Given the description of an element on the screen output the (x, y) to click on. 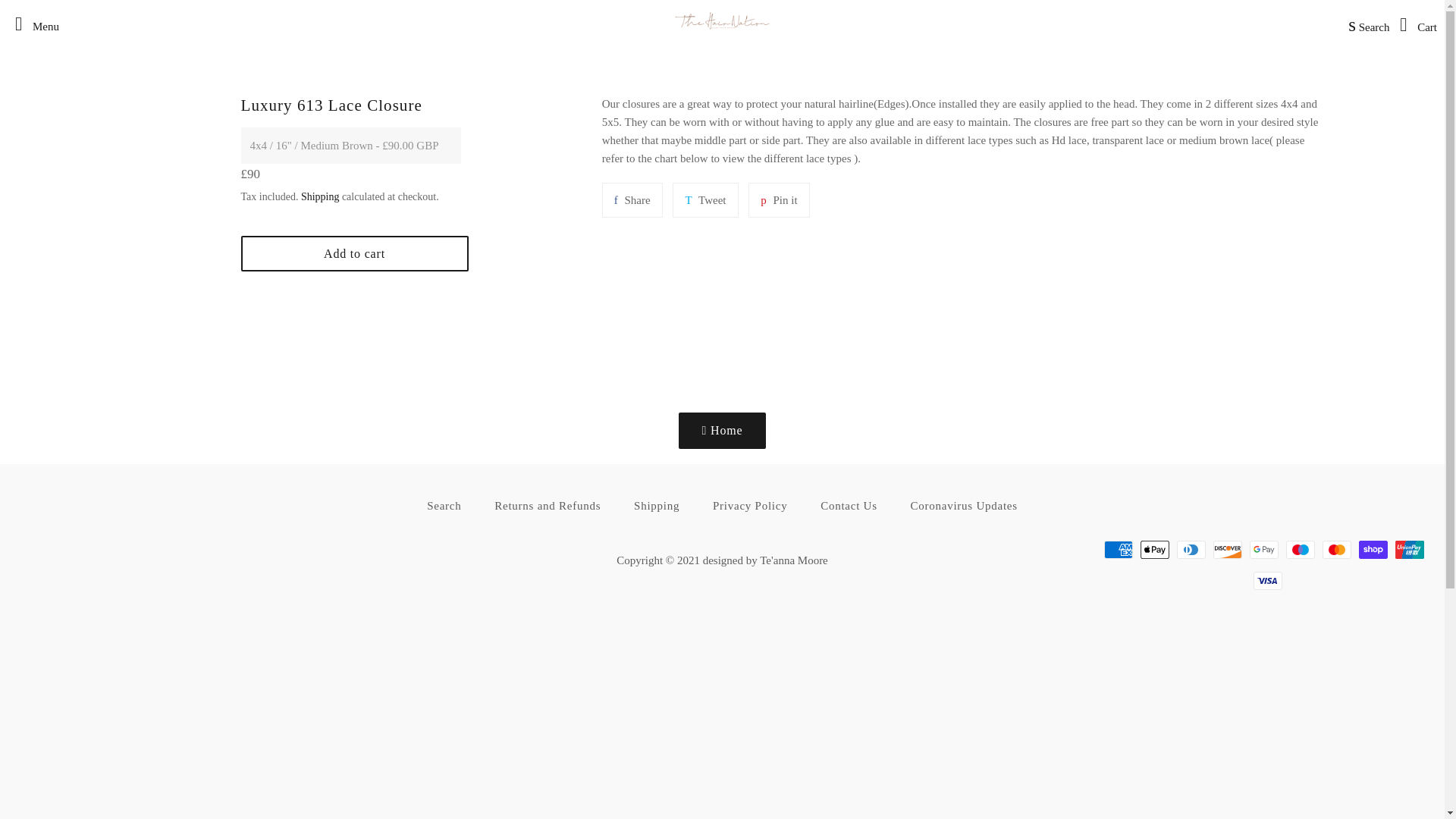
Privacy Policy (749, 505)
Maestro (1299, 549)
Mastercard (1336, 549)
American Express (1117, 549)
Diners Club (1190, 549)
Pin on Pinterest (778, 199)
Home (722, 430)
Returns and Refunds (547, 505)
Coronavirus Updates (963, 505)
Tweet on Twitter (705, 199)
